Given the description of an element on the screen output the (x, y) to click on. 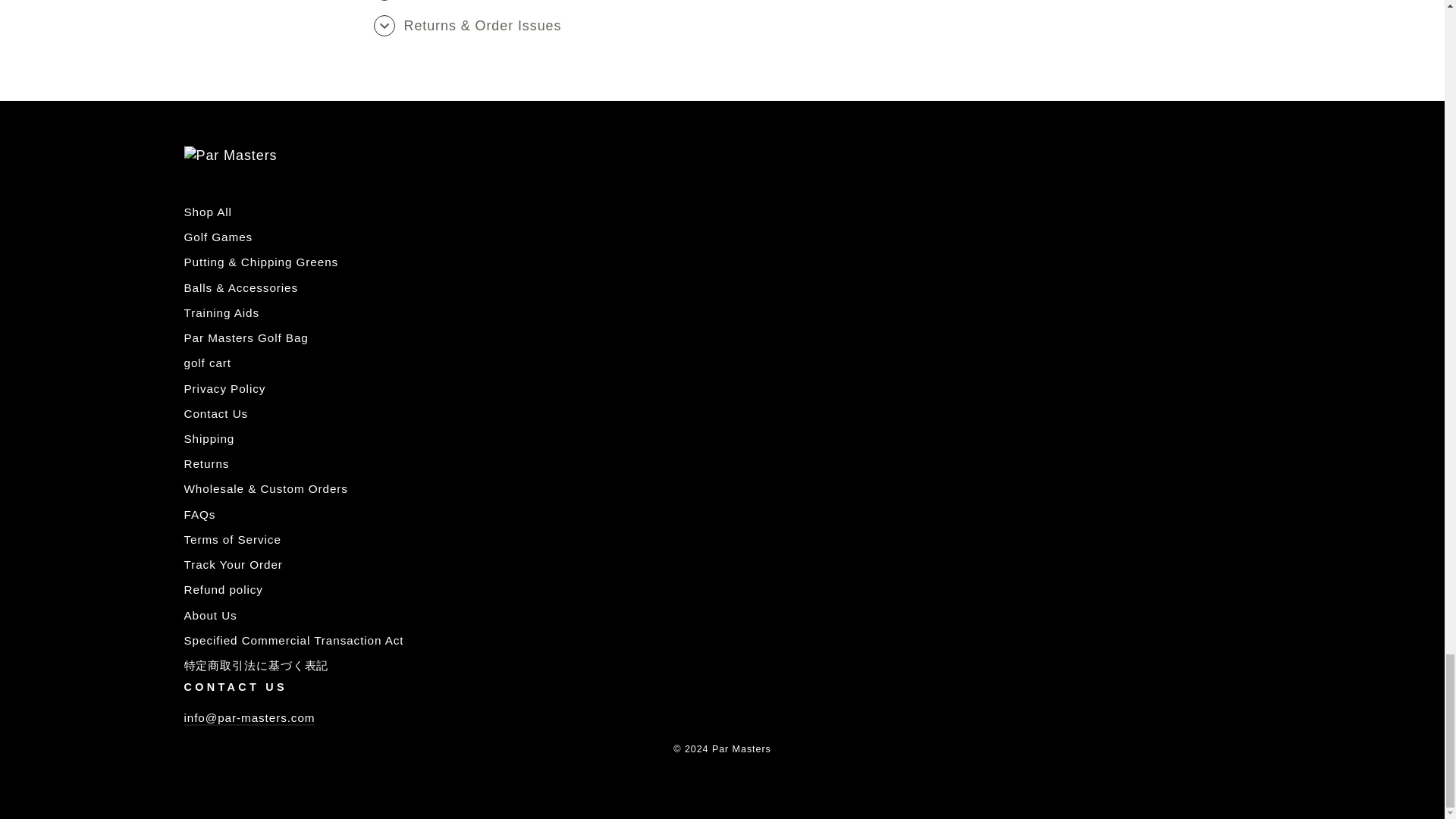
Contact Us (248, 718)
